Given the description of an element on the screen output the (x, y) to click on. 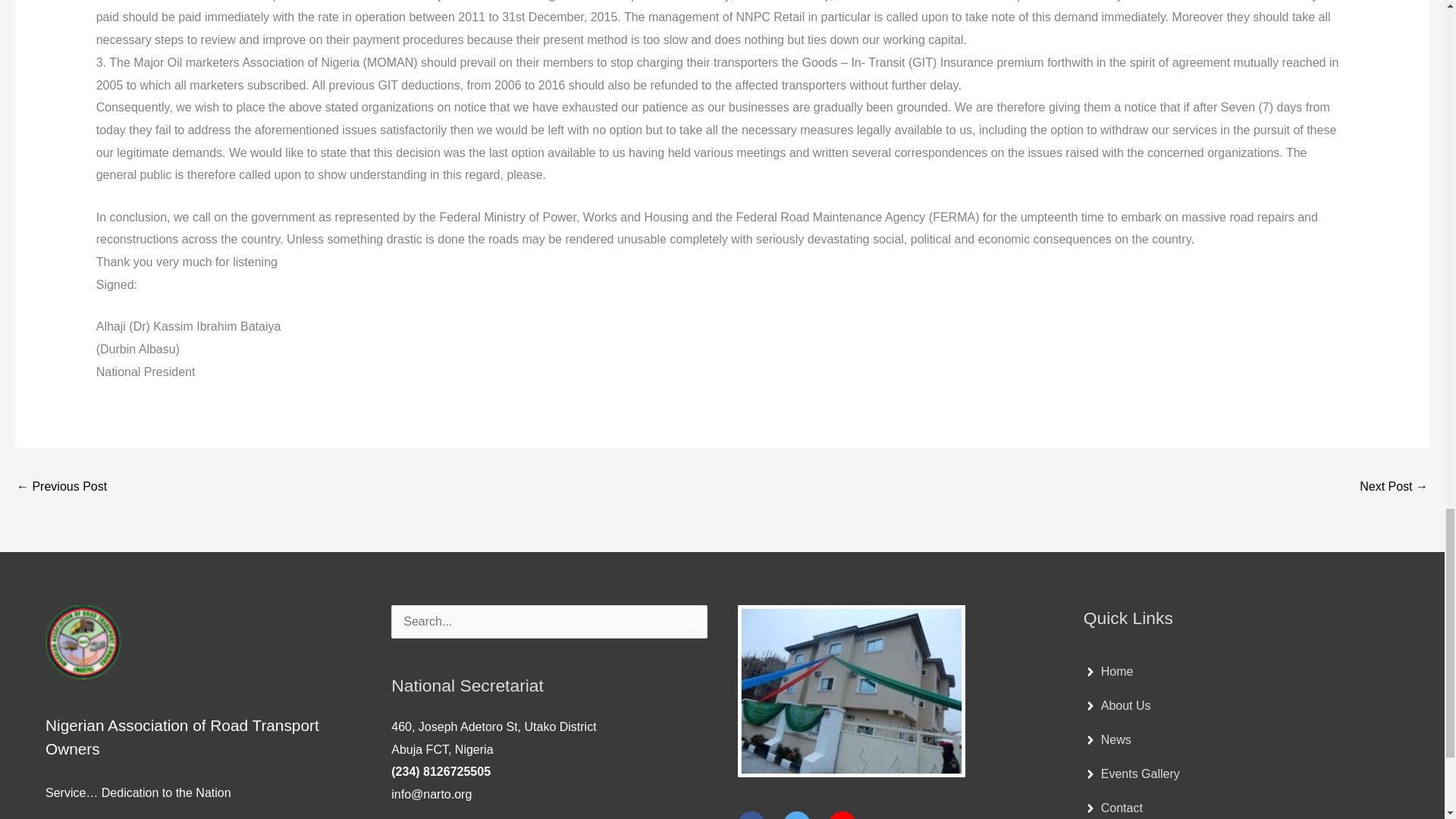
Contact (1112, 807)
Home (1108, 671)
News (1107, 739)
About Us (1117, 705)
Events Gallery (1131, 774)
